Given the description of an element on the screen output the (x, y) to click on. 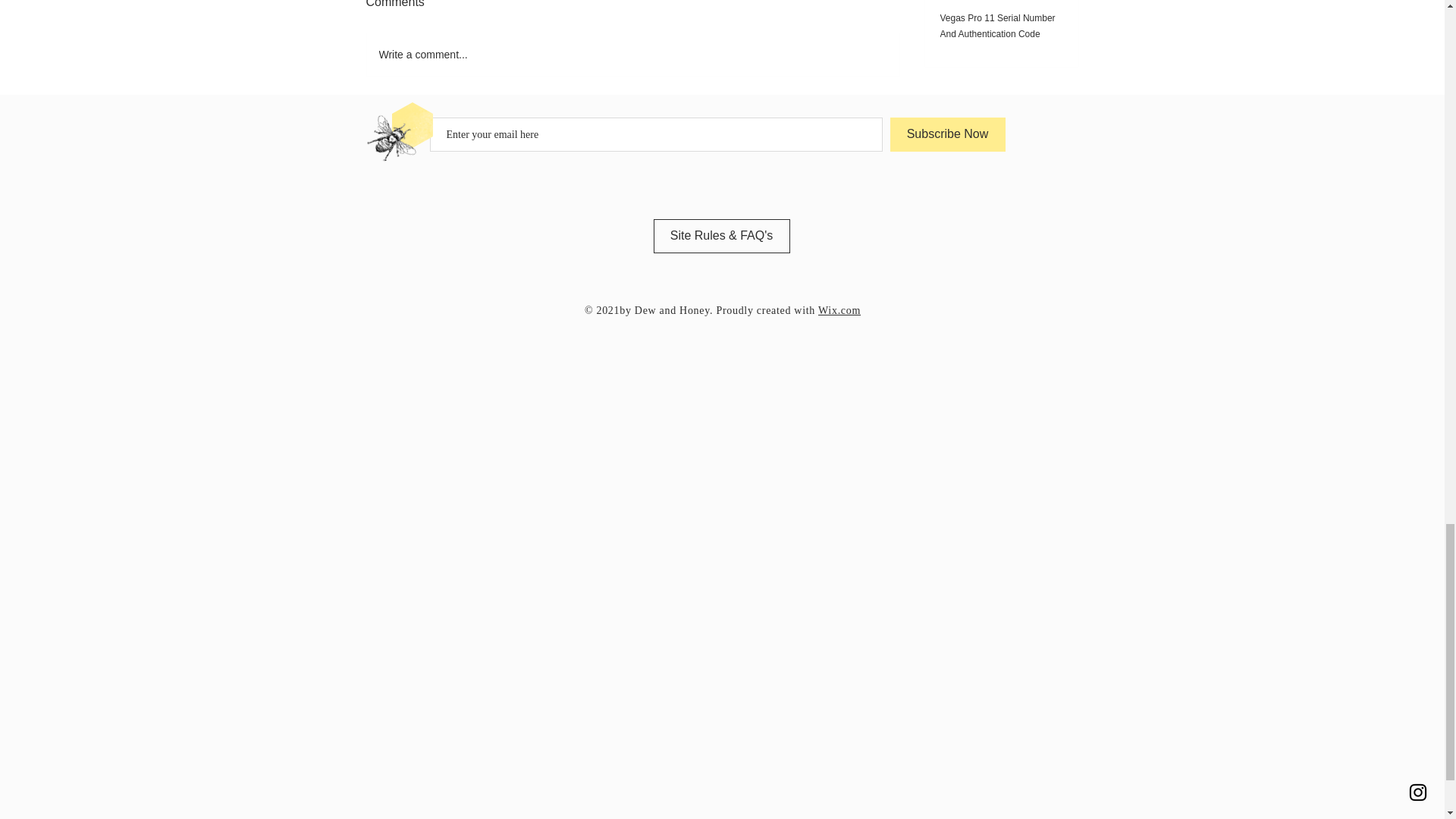
Write a comment... (632, 54)
bee2.png (382, 132)
Subscribe Now (947, 134)
Wix.com (839, 310)
